Given the description of an element on the screen output the (x, y) to click on. 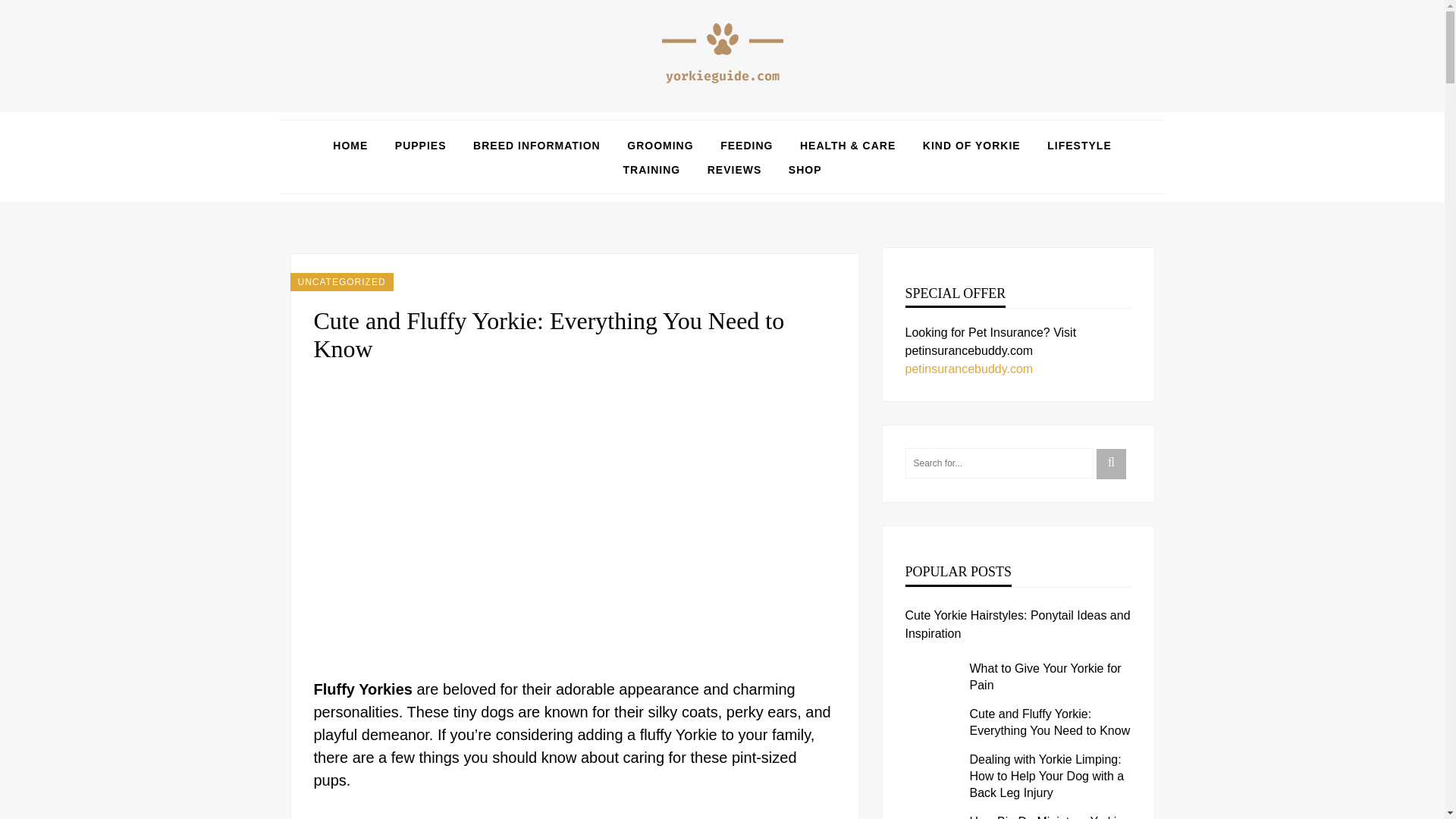
TRAINING (651, 169)
BREED INFORMATION (536, 145)
GROOMING (660, 145)
SHOP (805, 169)
FEEDING (746, 145)
LIFESTYLE (1078, 145)
REVIEWS (734, 169)
PUPPIES (420, 145)
HOME (350, 145)
UNCATEGORIZED (341, 281)
